Given the description of an element on the screen output the (x, y) to click on. 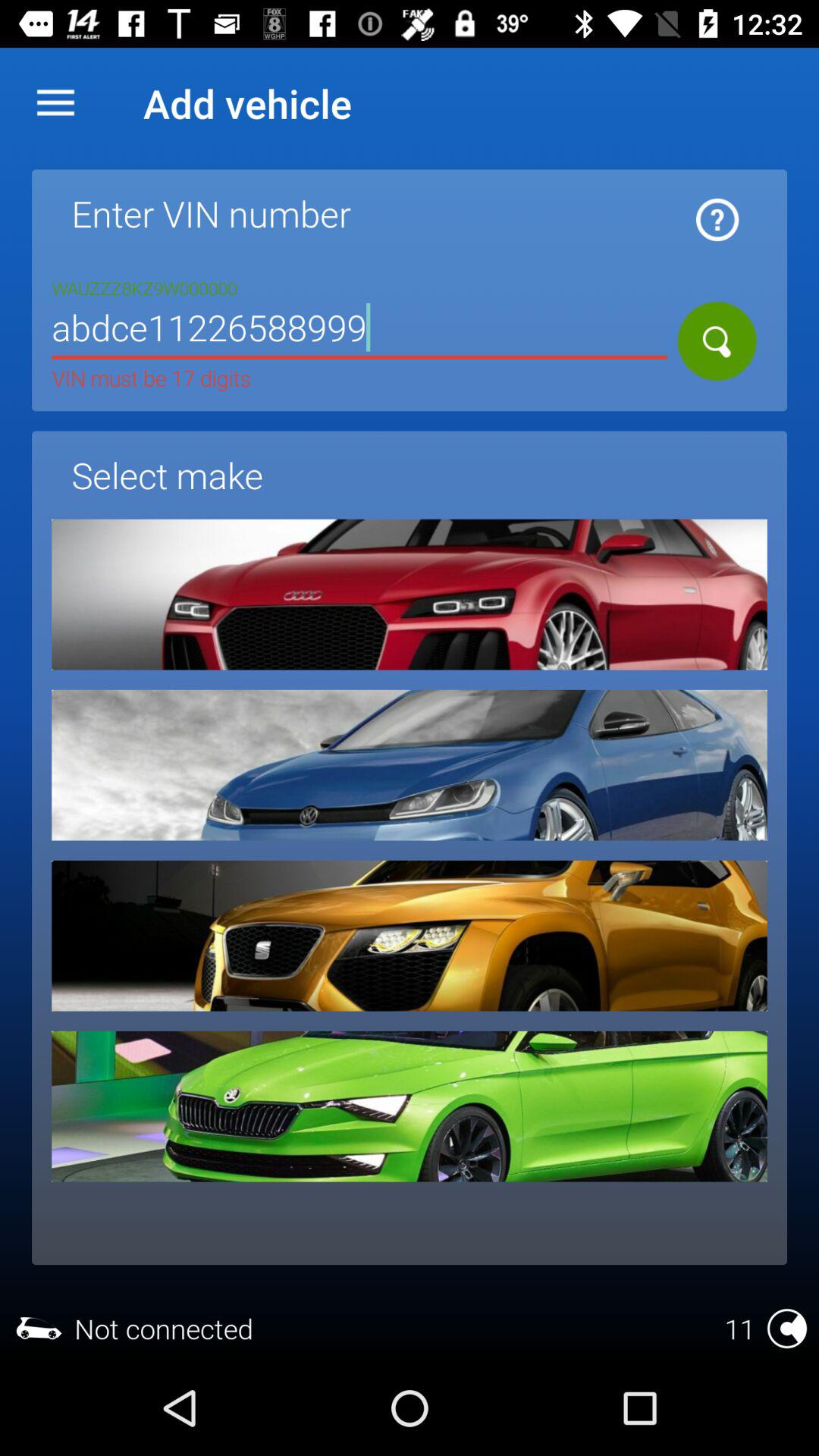
select make of car (409, 594)
